Given the description of an element on the screen output the (x, y) to click on. 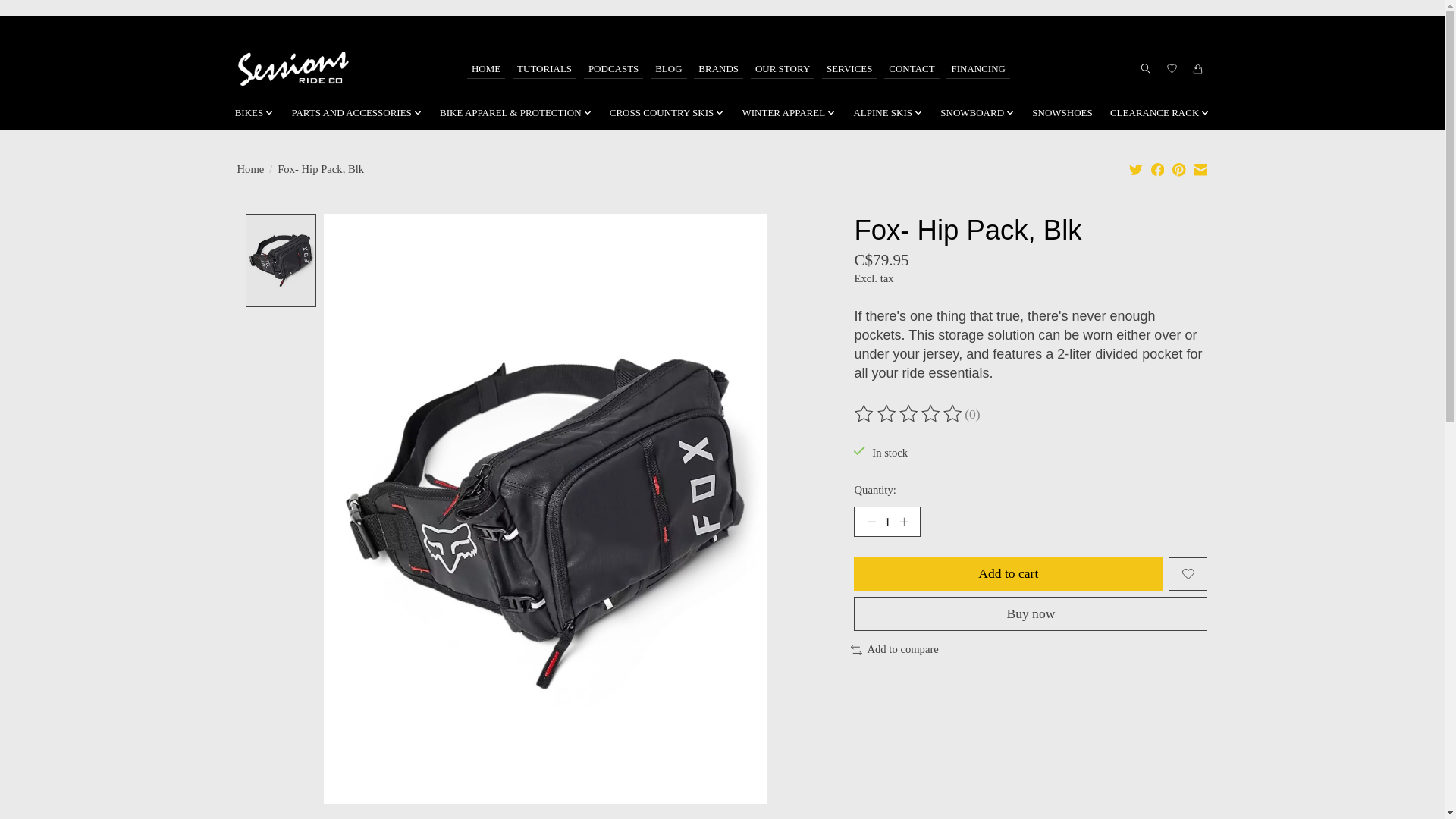
Share by Email (1200, 169)
1 (886, 521)
Sessions Ride Co. (291, 69)
My account (1163, 29)
Share on Facebook (1157, 169)
Share on Twitter (1135, 169)
Share on Pinterest (1178, 169)
